Given the description of an element on the screen output the (x, y) to click on. 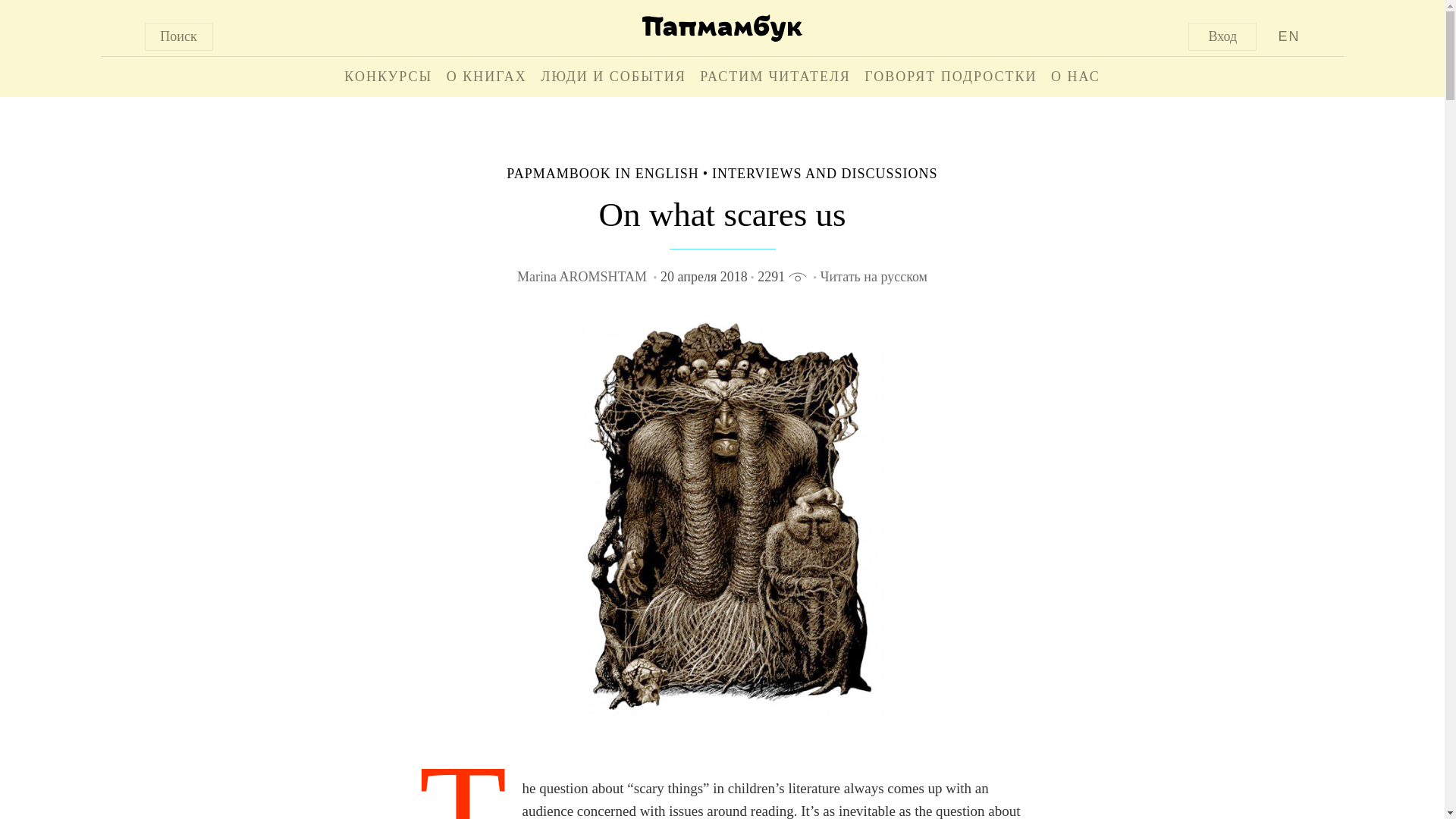
PAPMAMBOOK IN ENGLISH (602, 173)
Marina AROMSHTAM (583, 276)
INTERVIEWS AND DISCUSSIONS (824, 173)
